Given the description of an element on the screen output the (x, y) to click on. 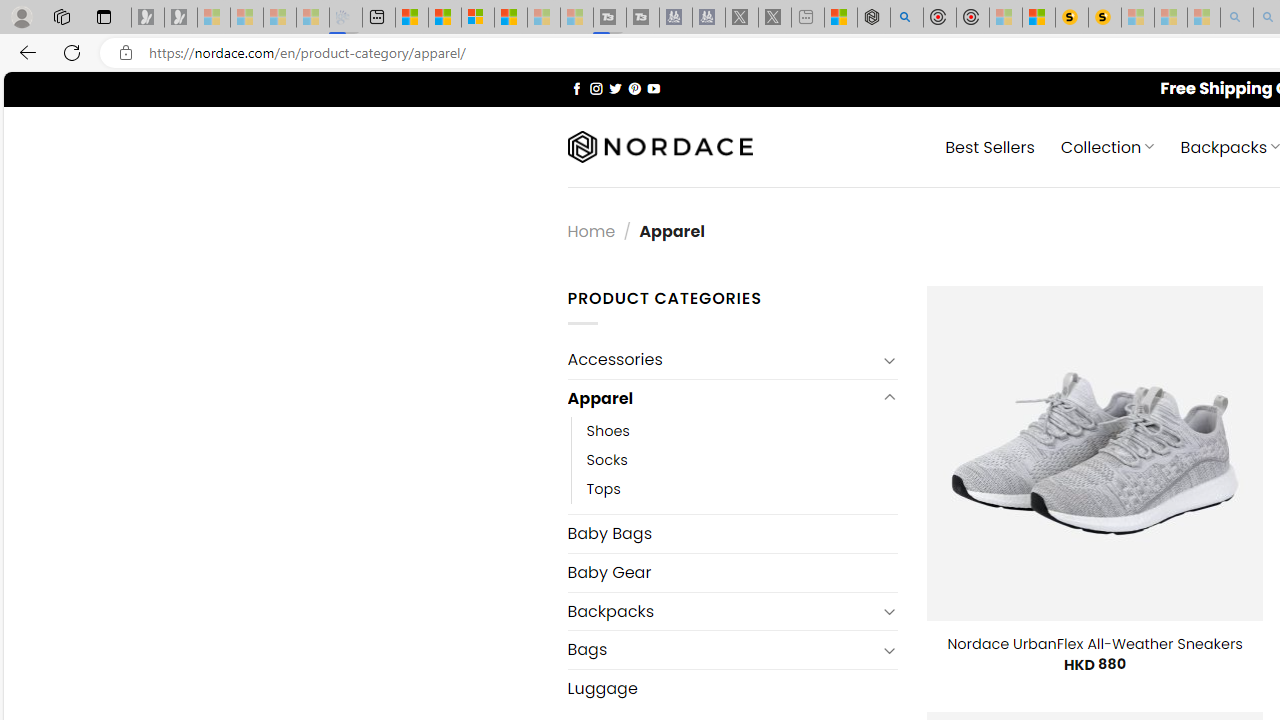
 Best Sellers (989, 146)
